Given the description of an element on the screen output the (x, y) to click on. 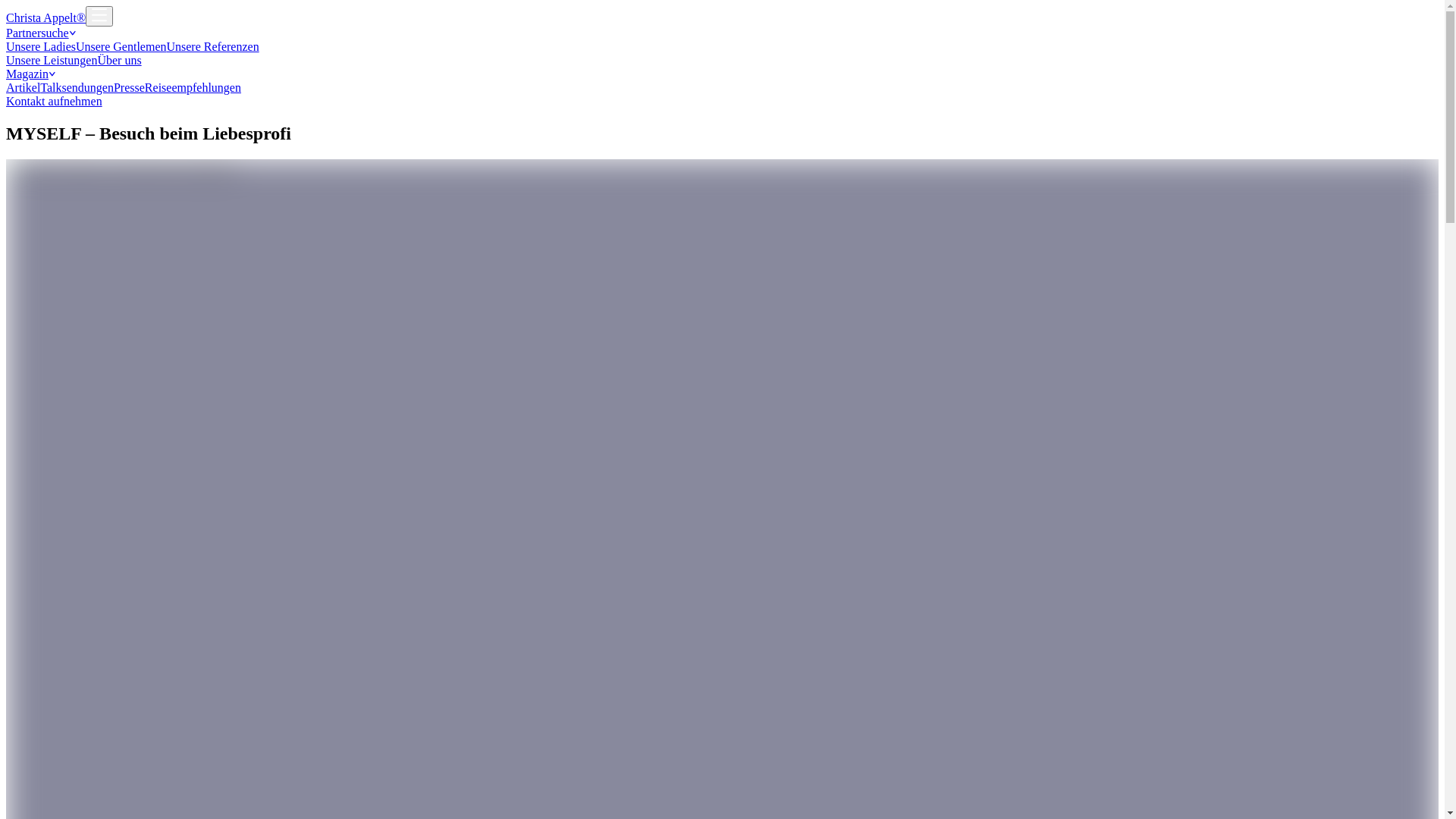
Unsere Gentlemen Element type: text (120, 46)
Magazin Element type: text (722, 74)
Unsere Ladies Element type: text (40, 46)
Kontakt aufnehmen Element type: text (54, 100)
Partnersuche Element type: text (722, 33)
Presse Element type: text (128, 87)
Unsere Leistungen Element type: text (51, 59)
Reiseempfehlungen Element type: text (192, 87)
Unsere Referenzen Element type: text (212, 46)
Talksendungen Element type: text (76, 87)
Artikel Element type: text (23, 87)
